Given the description of an element on the screen output the (x, y) to click on. 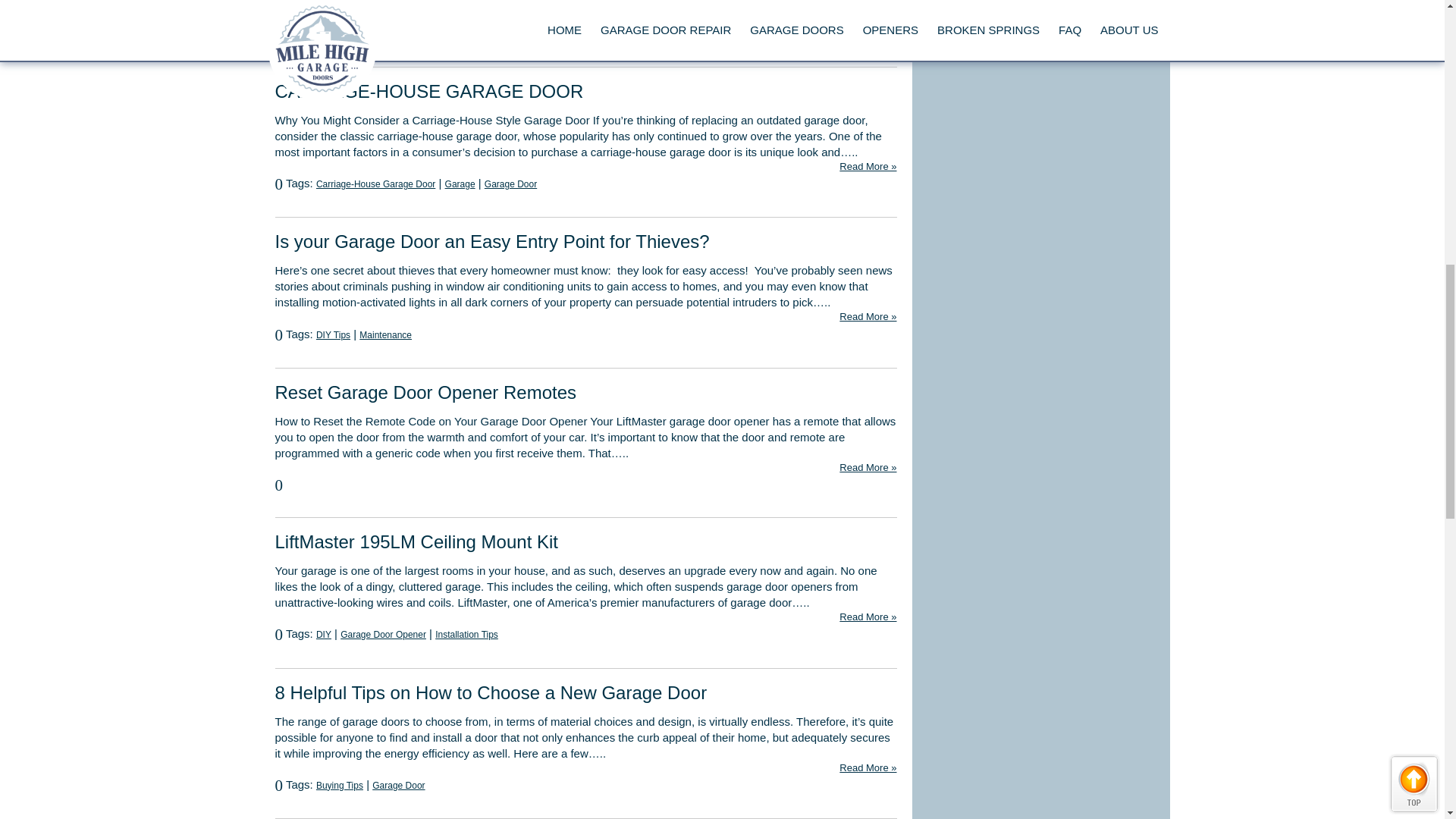
Carriage-House Garage Door (375, 184)
Permalink to CARRIAGE-HOUSE GARAGE DOOR (429, 91)
Permalink to Reset Garage Door Opener Remotes (425, 392)
Garage Door Windows (424, 32)
DIY Tips (332, 335)
CARRIAGE-HOUSE GARAGE DOOR (429, 91)
Is your Garage Door an Easy Entry Point for Thieves? (492, 240)
LiftMaster 195LM Ceiling Mount Kit (416, 541)
Reset Garage Door Opener Remotes (425, 392)
Maintenance (385, 335)
Garage Door (510, 184)
Garage (460, 184)
DIY (323, 634)
Garage Door (341, 32)
